Given the description of an element on the screen output the (x, y) to click on. 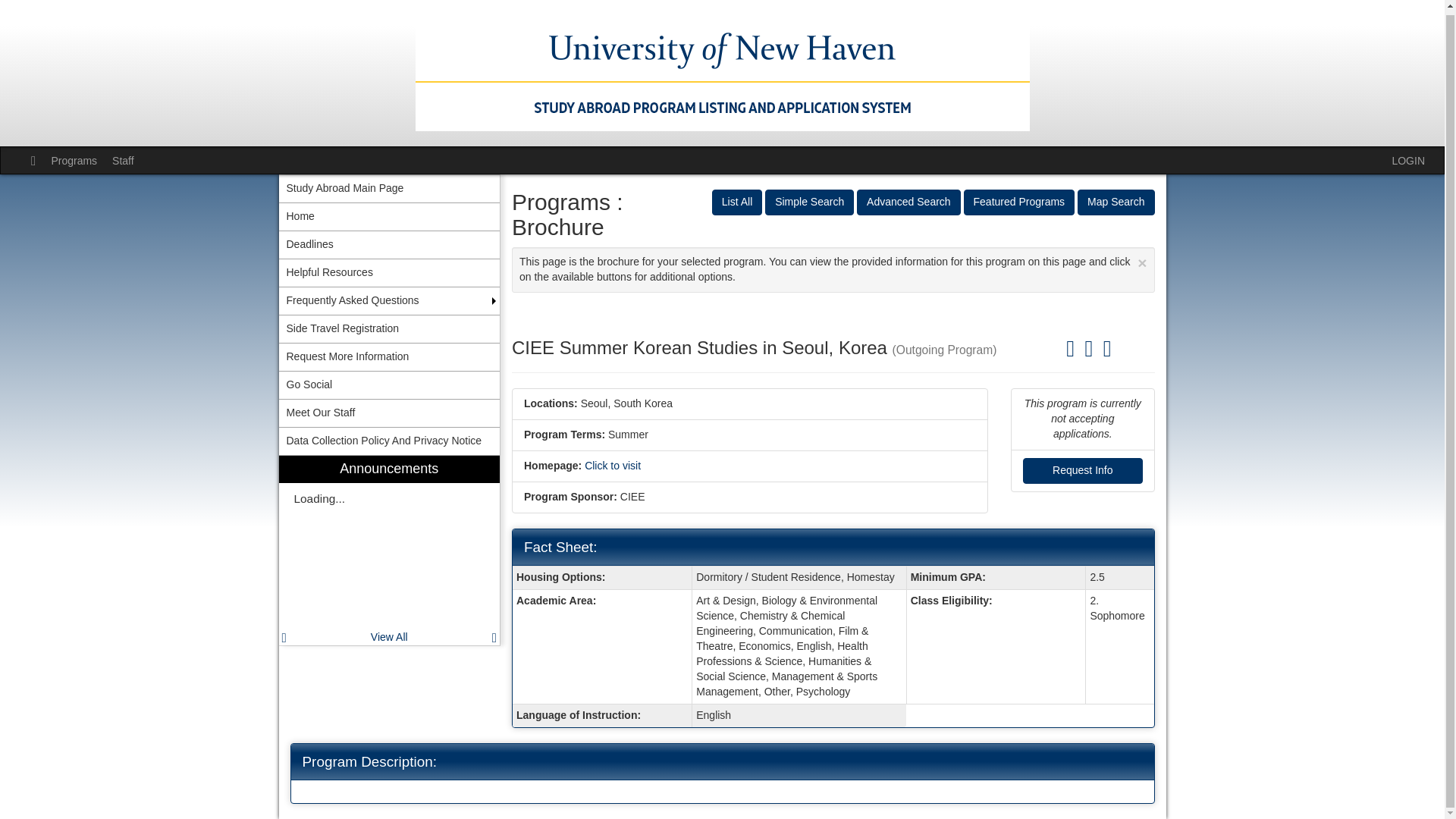
Data Collection Policy And Privacy Notice (389, 441)
Request More Information (389, 357)
Featured Programs (1019, 202)
Study Abroad Main Page (389, 188)
Frequently Asked Questions (389, 300)
Deadlines (389, 244)
Advanced Search (908, 202)
Meet Our Staff (389, 412)
Programs (73, 160)
LOGIN (1408, 160)
